Given the description of an element on the screen output the (x, y) to click on. 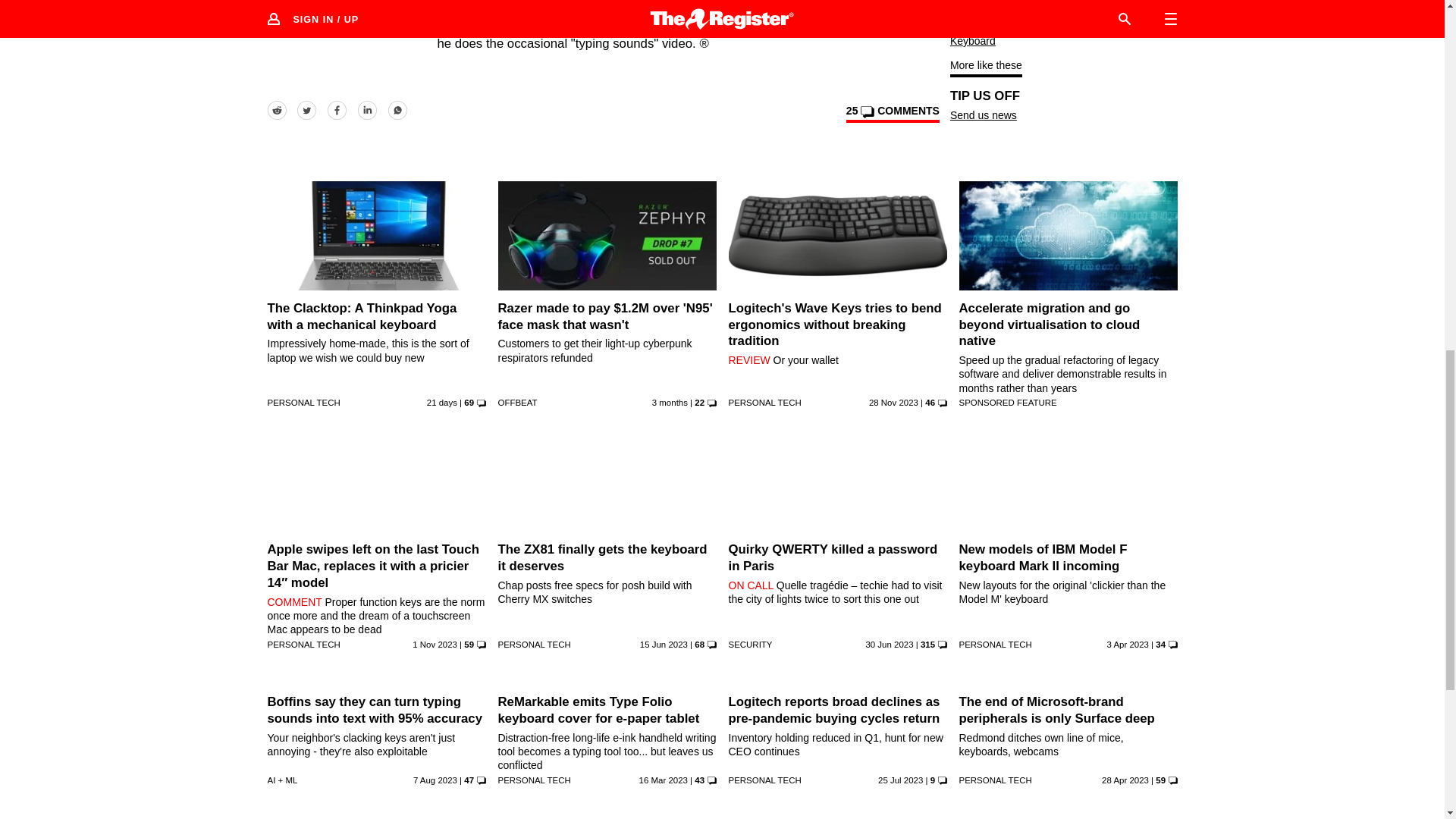
22 Jul 2024 11:15 (441, 402)
15 Jun 2023 6:58 (663, 644)
16 Mar 2023 16:31 (663, 779)
1 Nov 2023 0:57 (434, 644)
View comments on this article (892, 113)
3 Apr 2023 19:3 (1127, 644)
30 Apr 2024 15:0 (669, 402)
7 Aug 2023 20:34 (435, 779)
30 Jun 2023 7:27 (888, 644)
28 Nov 2023 9:30 (893, 402)
